Given the description of an element on the screen output the (x, y) to click on. 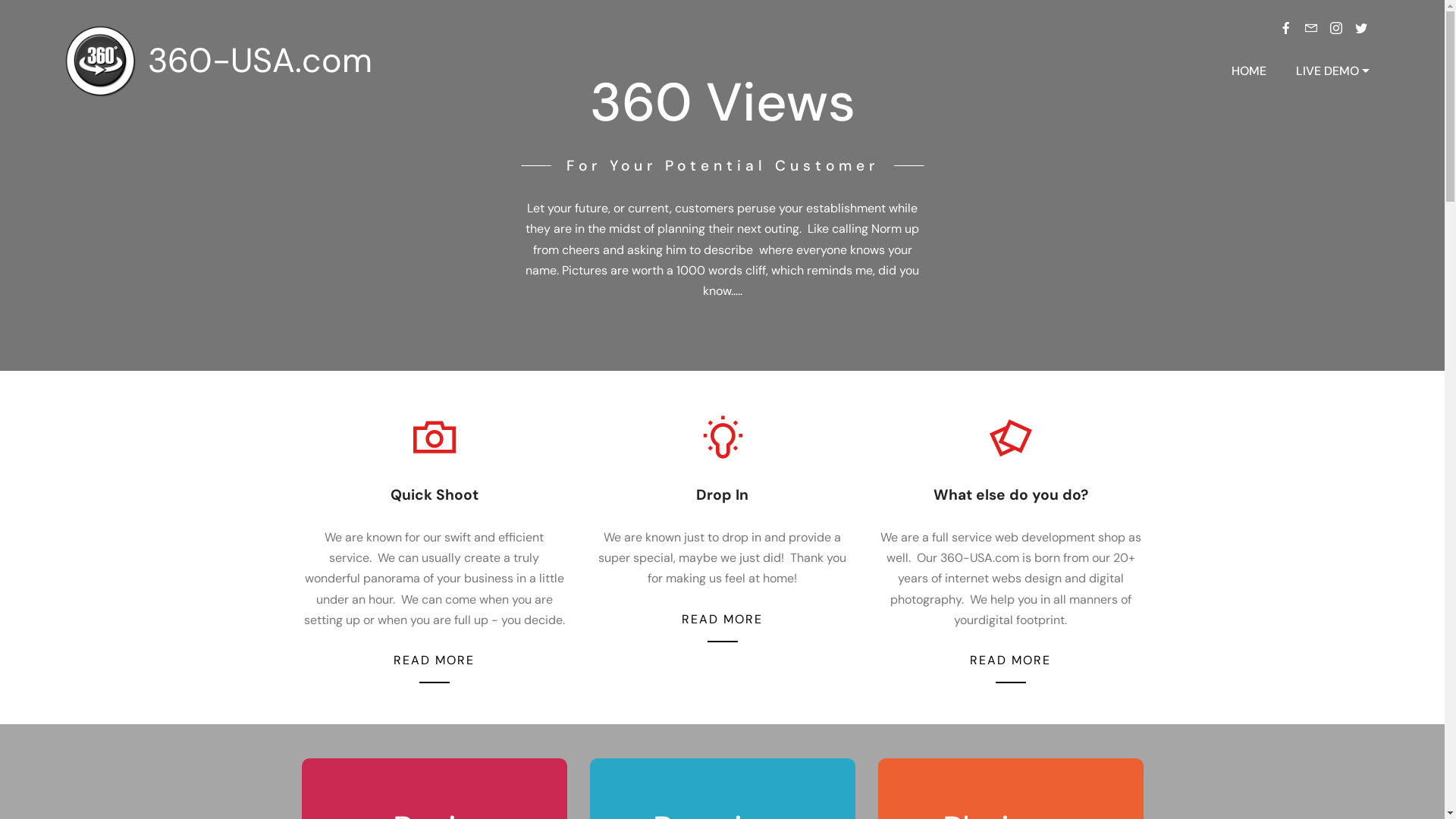
READ MORE Element type: text (433, 660)
HOME Element type: text (1248, 71)
READ MORE Element type: text (721, 619)
LIVE DEMO Element type: text (1332, 71)
READ MORE Element type: text (1010, 660)
360-USA.com Element type: text (271, 60)
